Given the description of an element on the screen output the (x, y) to click on. 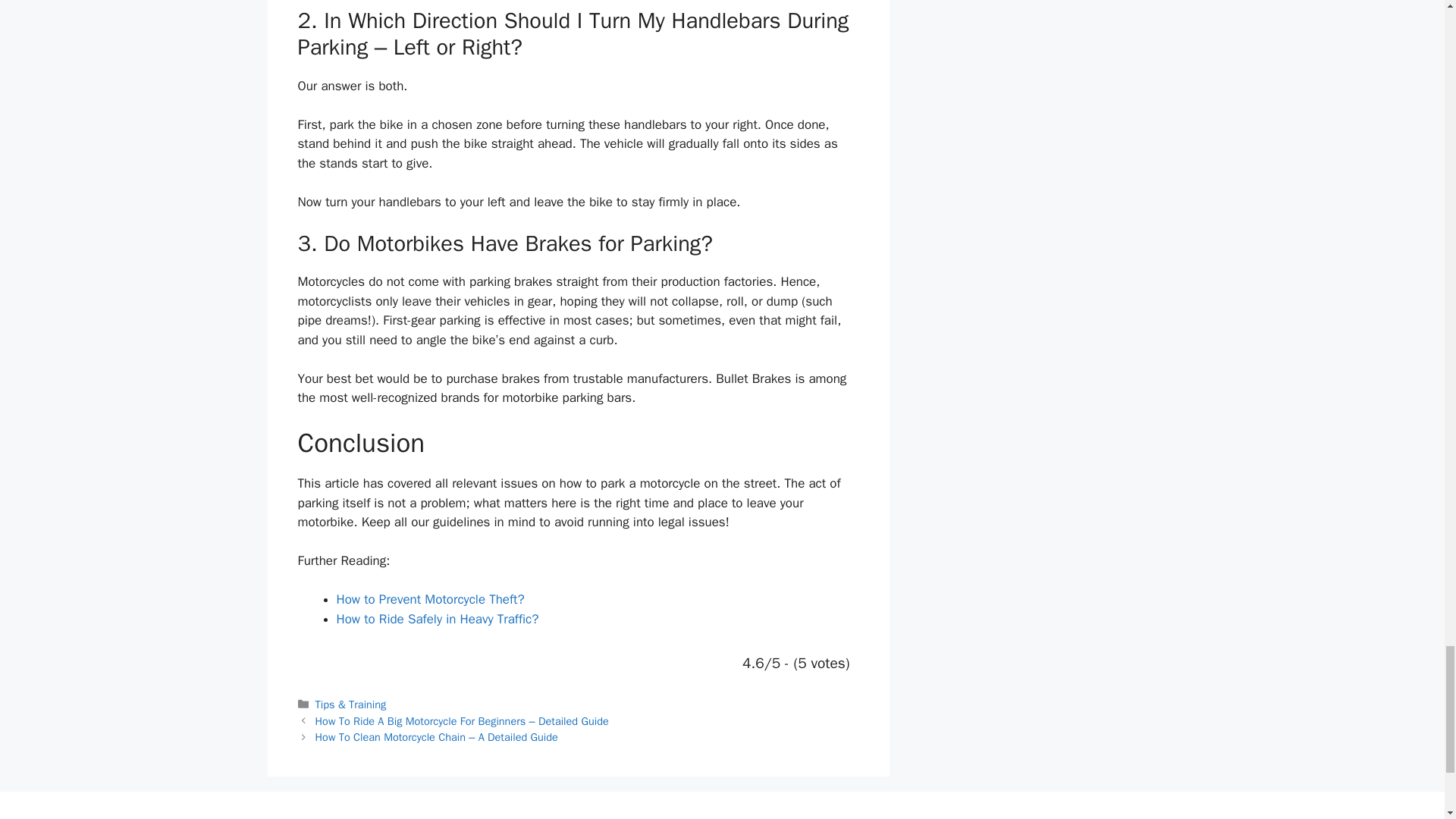
How to Prevent Motorcycle Theft? (430, 599)
How to Ride Safely in Heavy Traffic? (437, 618)
